Given the description of an element on the screen output the (x, y) to click on. 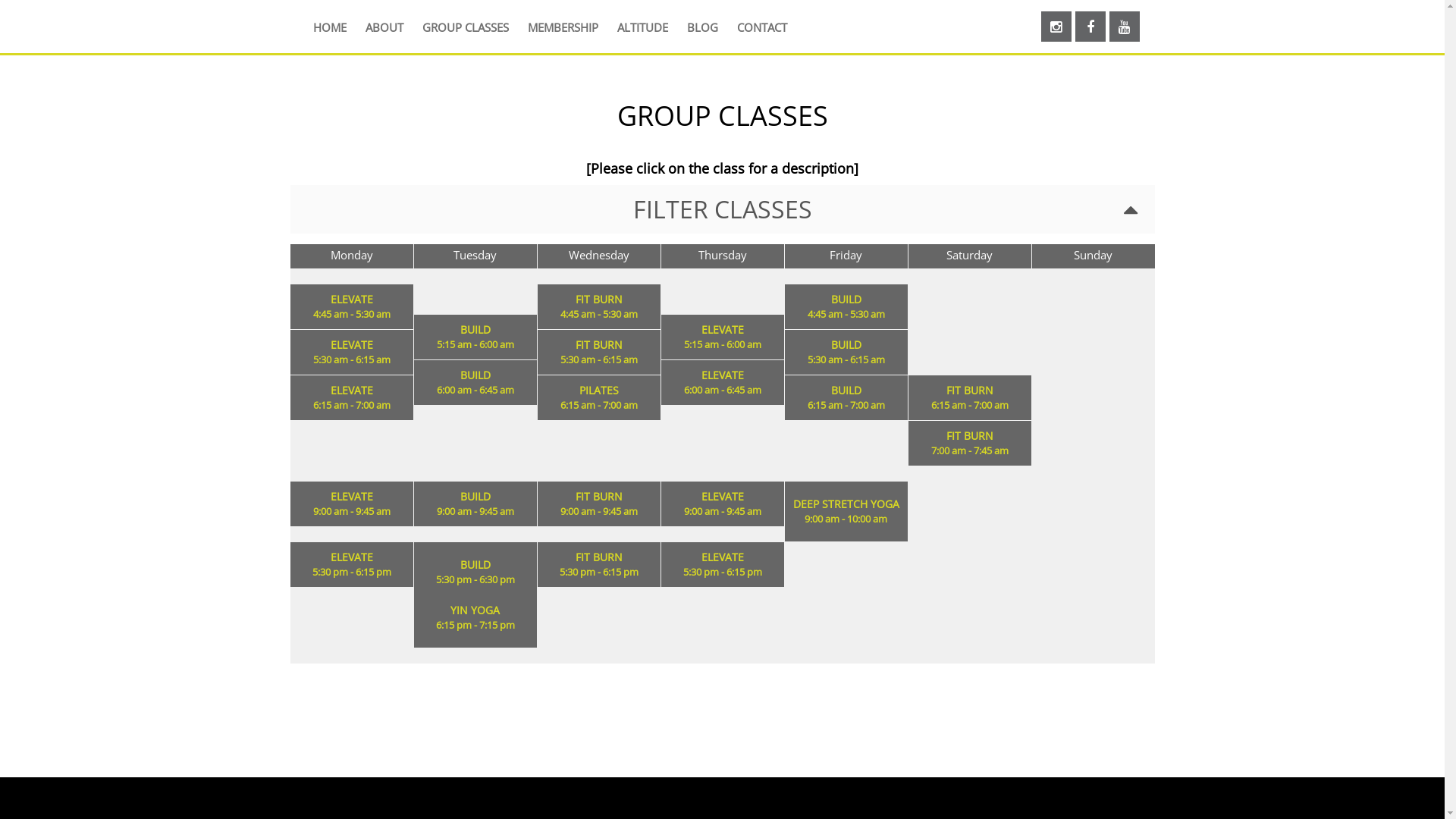
ALTITUDE Element type: text (642, 28)
BLOG Element type: text (702, 28)
ABOUT Element type: text (384, 28)
CONTACT Element type: text (762, 28)
GROUP CLASSES Element type: text (464, 28)
MEMBERSHIP Element type: text (562, 28)
HOME Element type: text (328, 28)
